Given the description of an element on the screen output the (x, y) to click on. 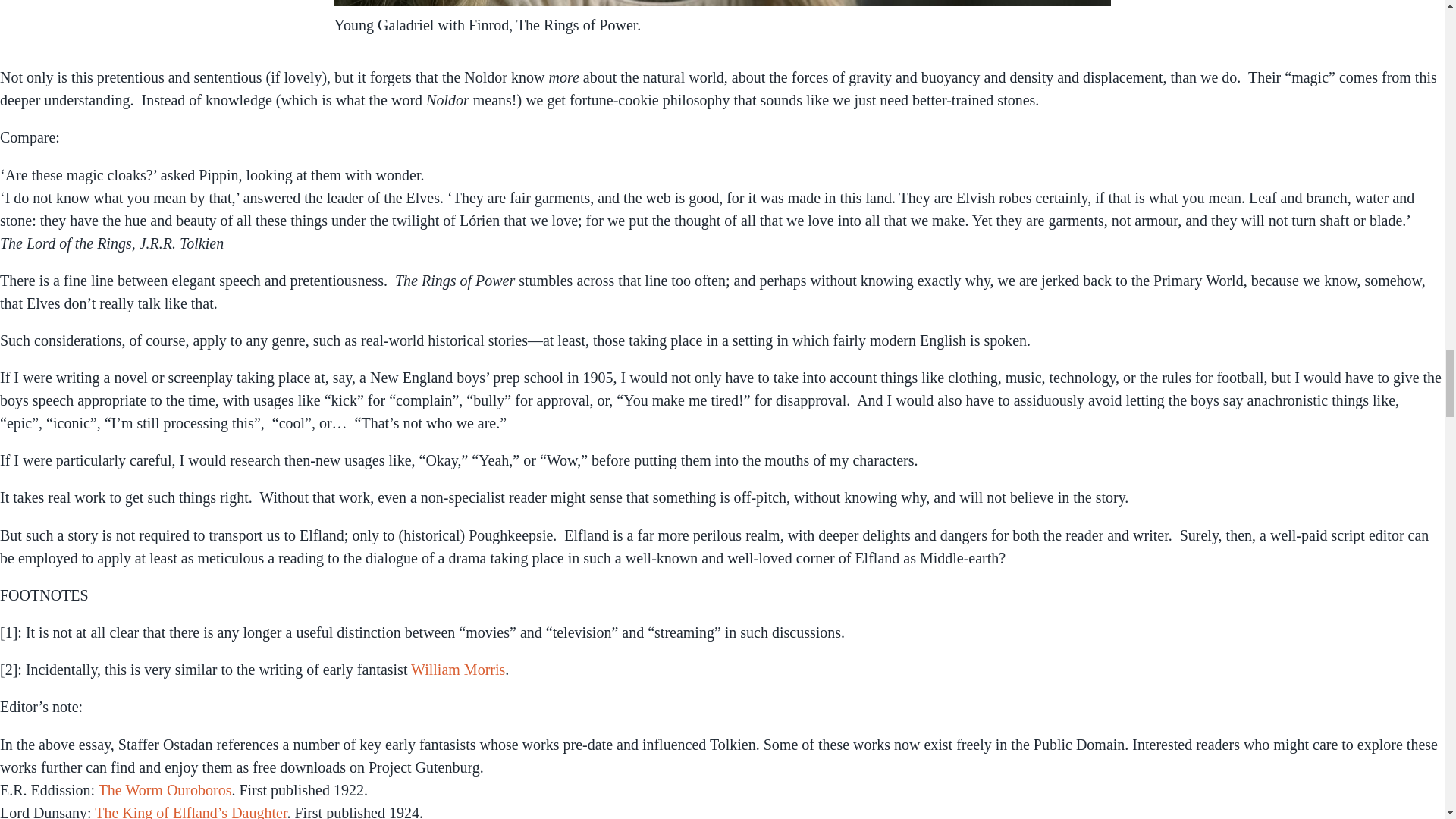
The Worm Ouroboros (165, 790)
William Morris (457, 669)
